Given the description of an element on the screen output the (x, y) to click on. 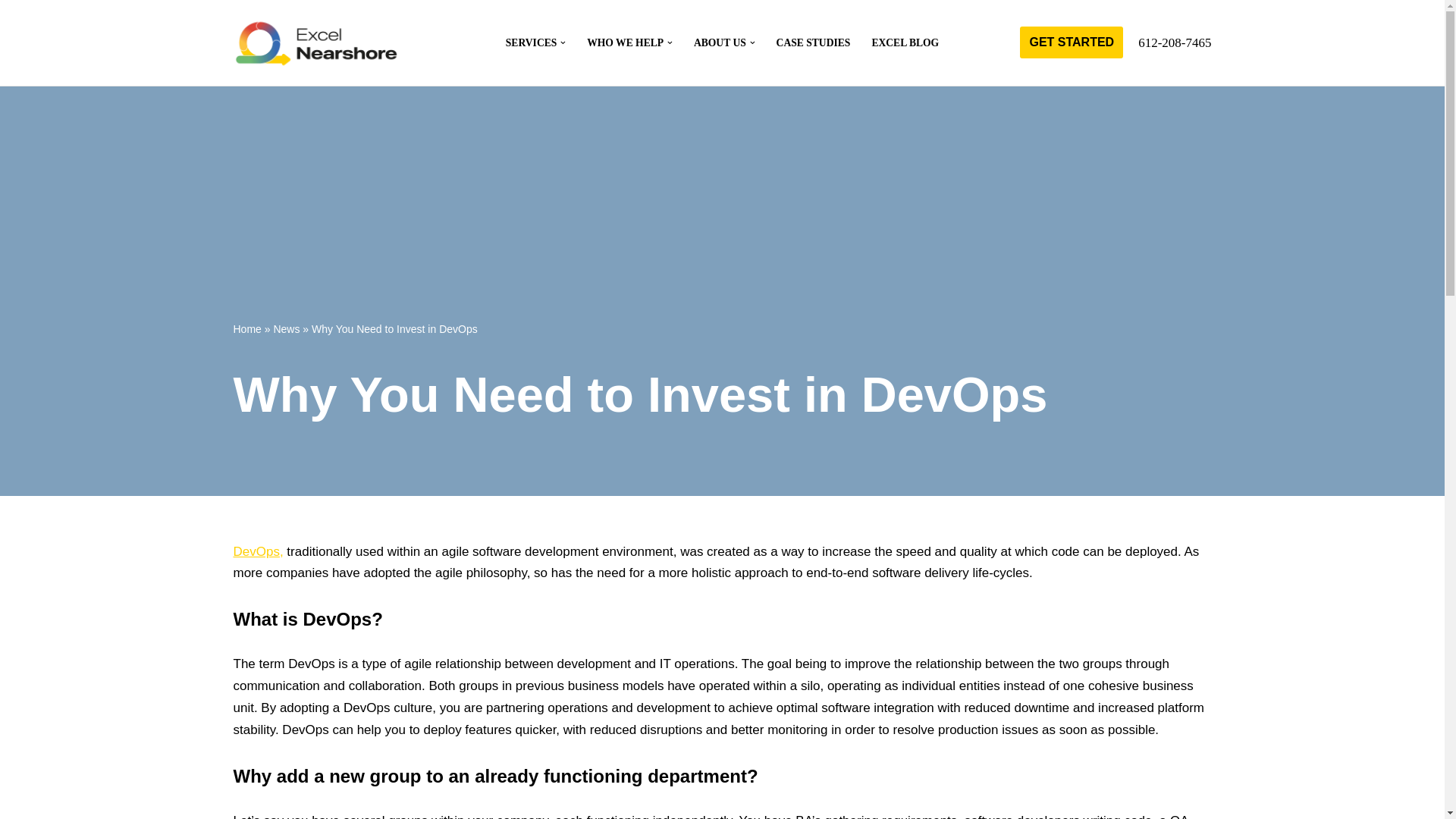
GET STARTED (1071, 42)
612-208-7465 (1174, 42)
CASE STUDIES (813, 42)
ABOUT US (719, 42)
SERVICES (531, 42)
WHO WE HELP (624, 42)
EXCEL BLOG (904, 42)
Skip to content (11, 31)
